Given the description of an element on the screen output the (x, y) to click on. 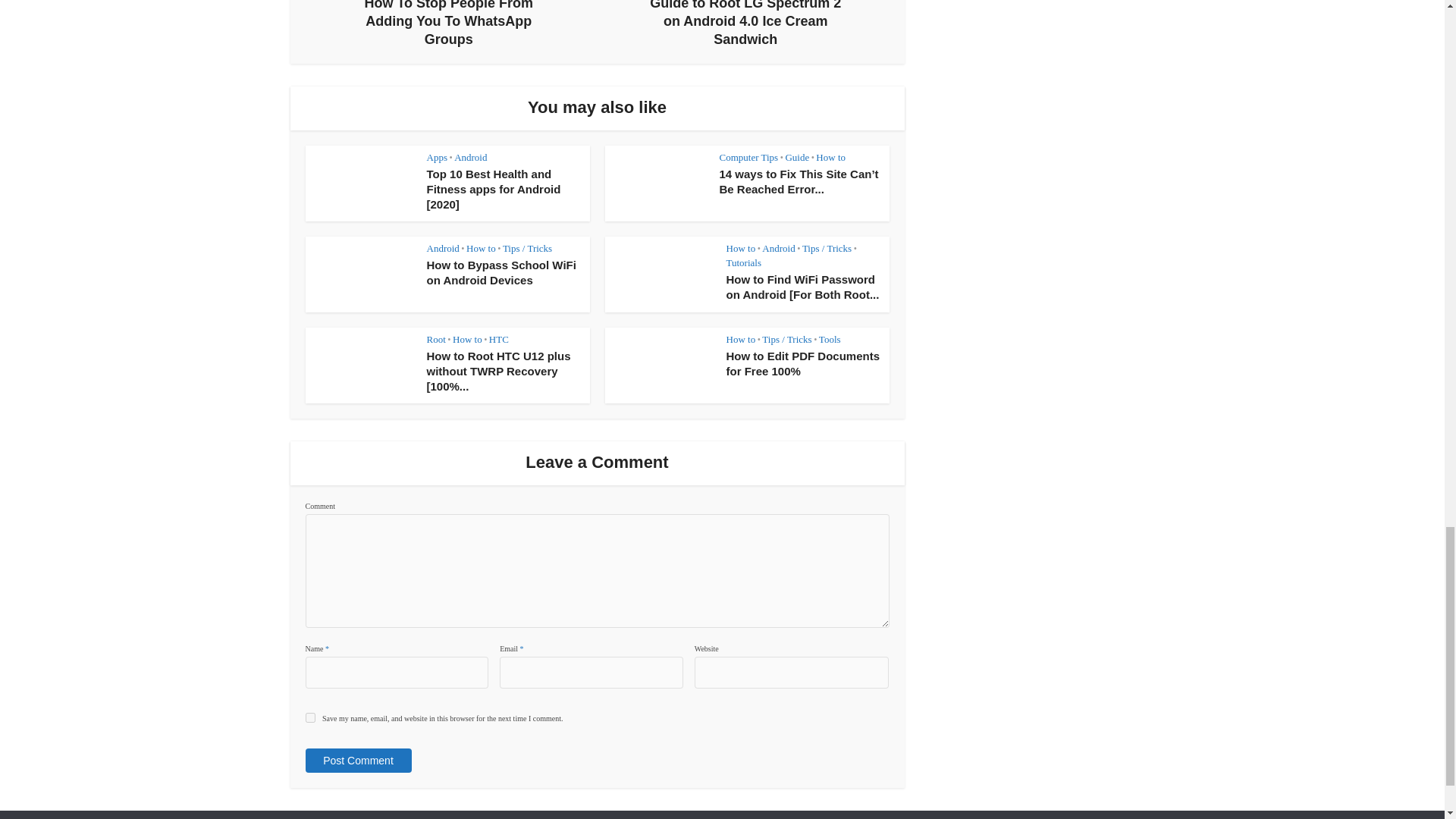
Post Comment (357, 760)
yes (309, 717)
How to Bypass School WiFi on Android Devices (359, 274)
How to Bypass School WiFi on Android Devices (500, 272)
